Given the description of an element on the screen output the (x, y) to click on. 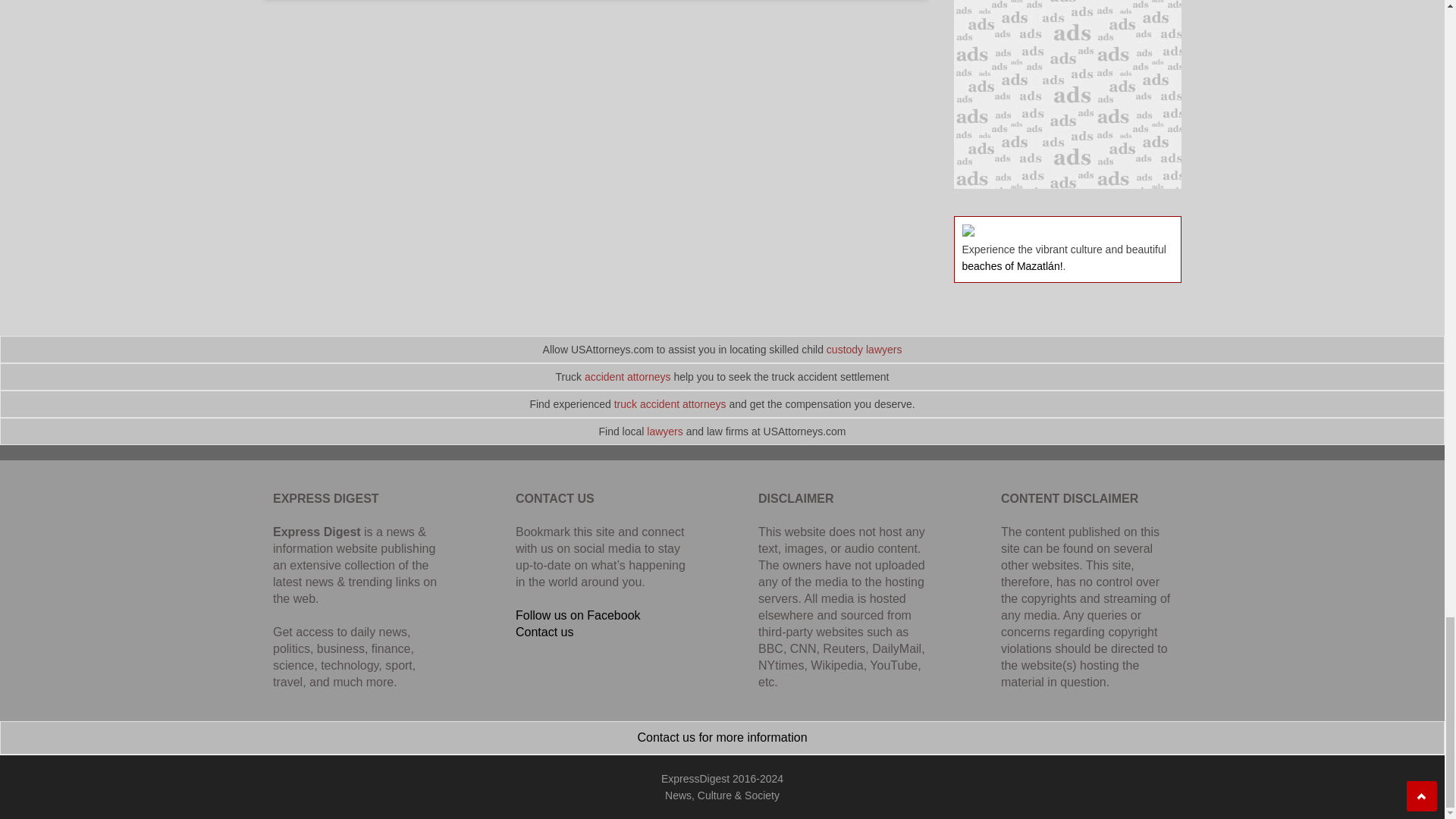
truck accident attorneys (670, 404)
lawyers (664, 431)
accident attorneys (628, 377)
custody lawyers (864, 349)
